Given the description of an element on the screen output the (x, y) to click on. 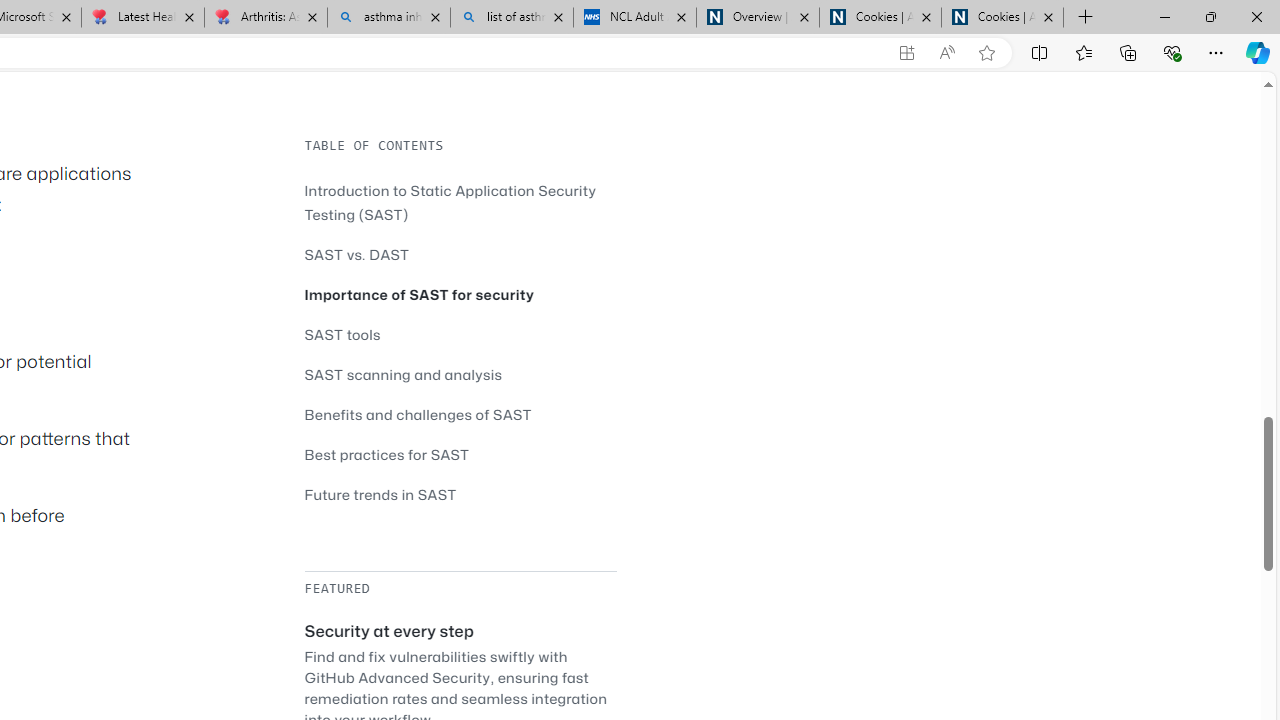
SAST tools (460, 334)
SAST scanning and analysis (460, 374)
Introduction to Static Application Security Testing (SAST) (460, 201)
NCL Adult Asthma Inhaler Choice Guideline (634, 17)
list of asthma inhalers uk - Search (511, 17)
Future trends in SAST (380, 494)
Arthritis: Ask Health Professionals (265, 17)
